Given the description of an element on the screen output the (x, y) to click on. 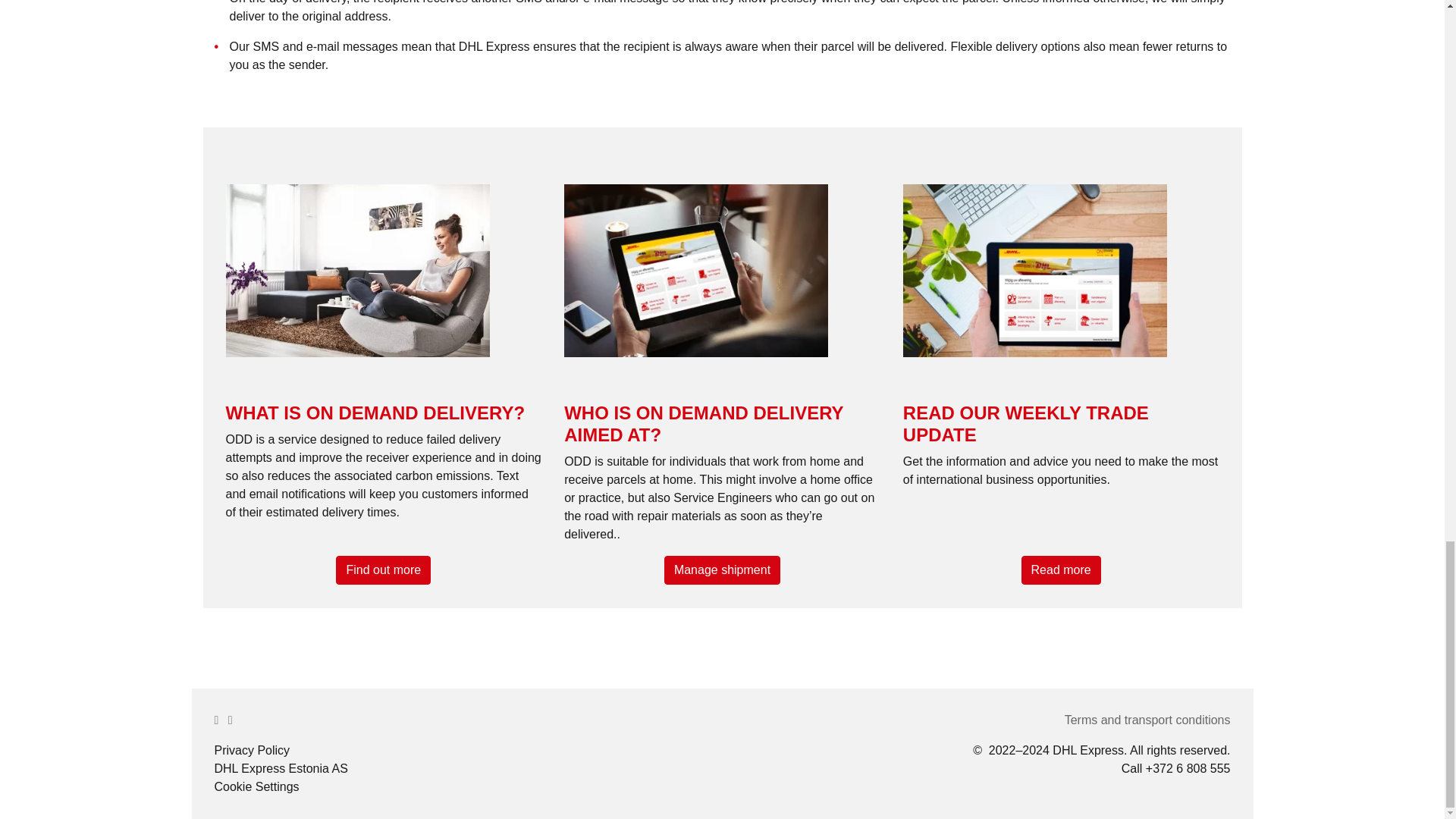
Facebook (230, 719)
Instagram (216, 719)
